Given the description of an element on the screen output the (x, y) to click on. 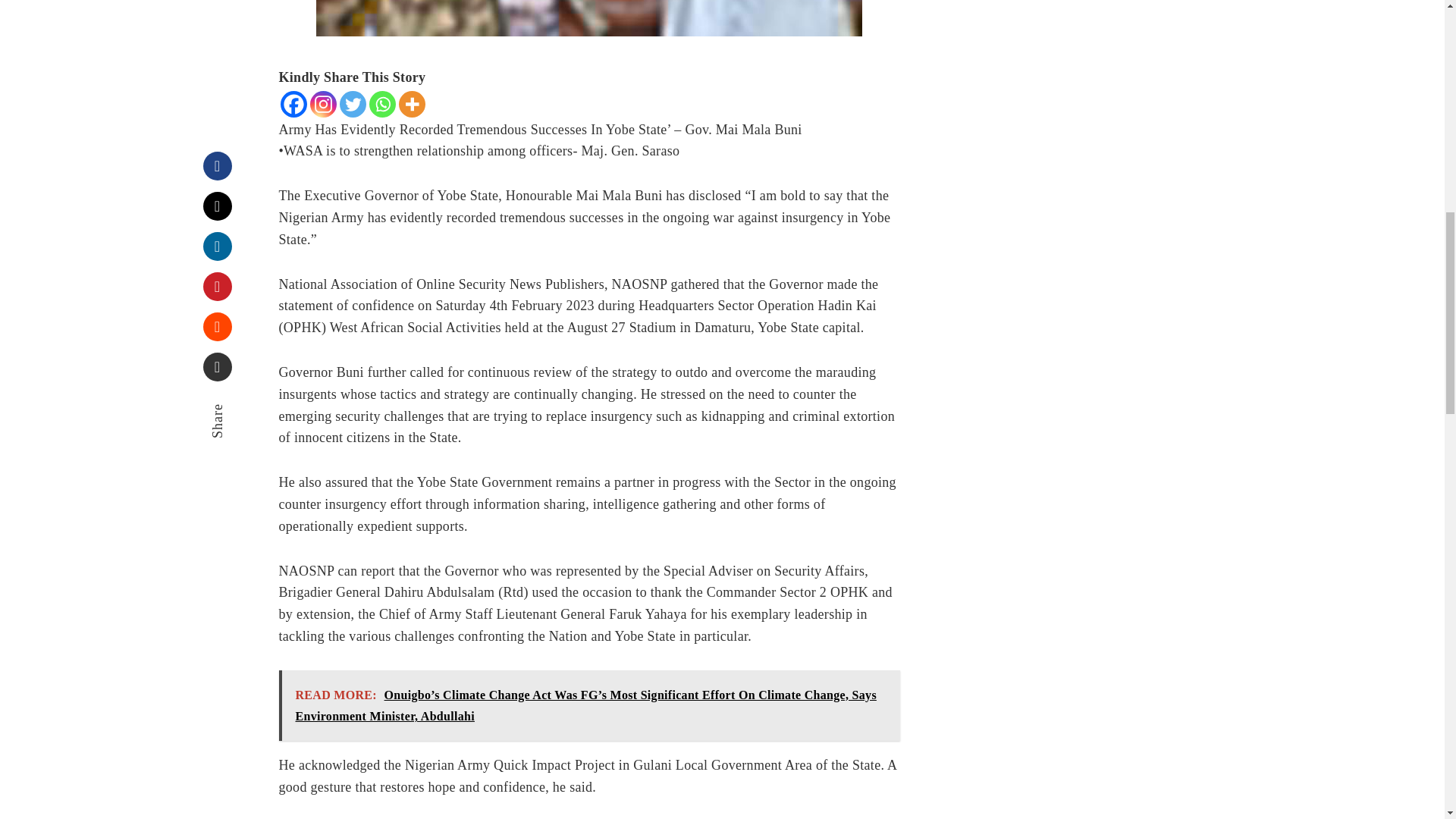
Instagram (322, 103)
Twitter (352, 103)
More (411, 103)
Facebook (294, 103)
Whatsapp (381, 103)
